Given the description of an element on the screen output the (x, y) to click on. 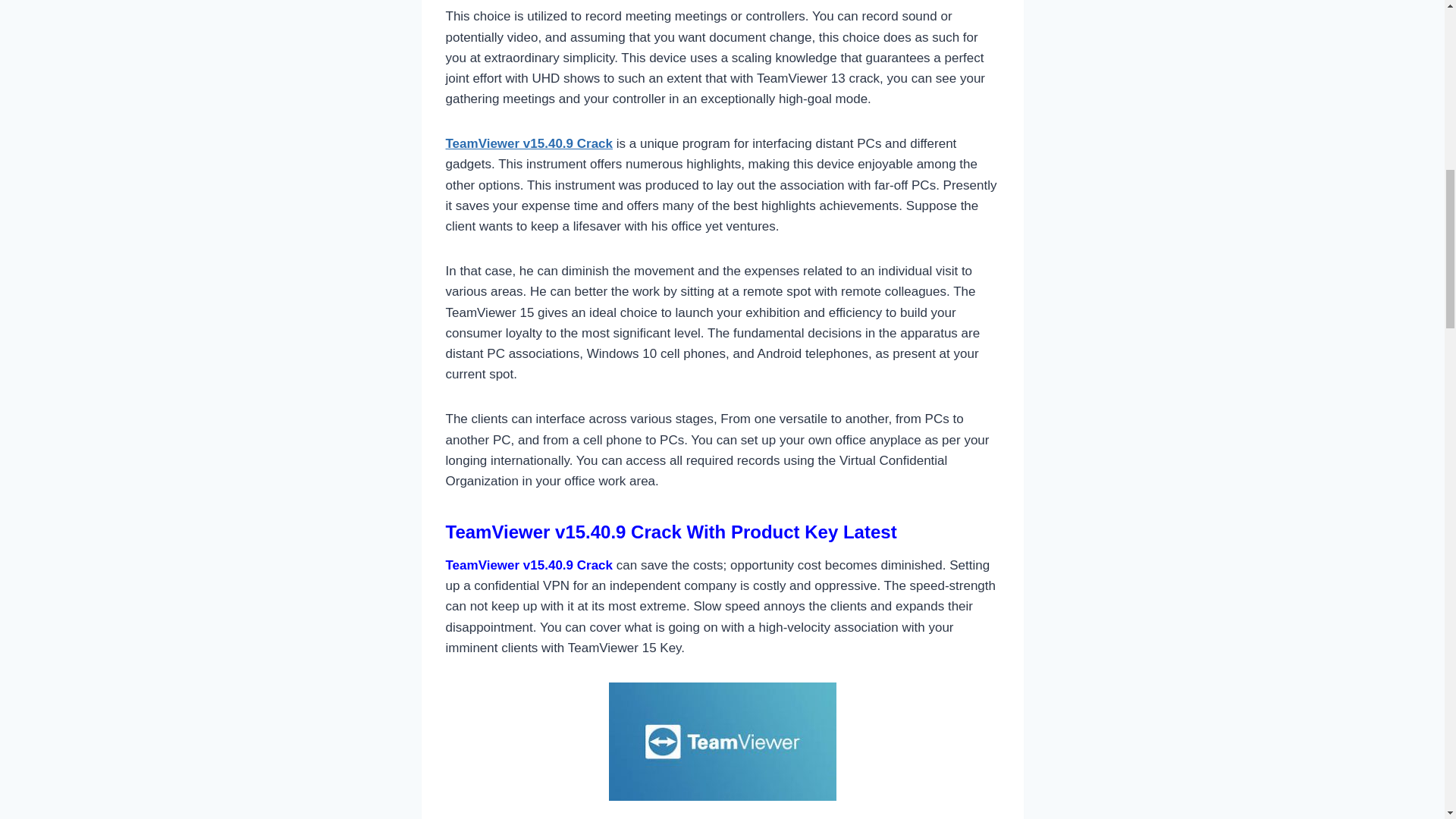
TeamViewer v15.40.9 Crack (528, 143)
